Given the description of an element on the screen output the (x, y) to click on. 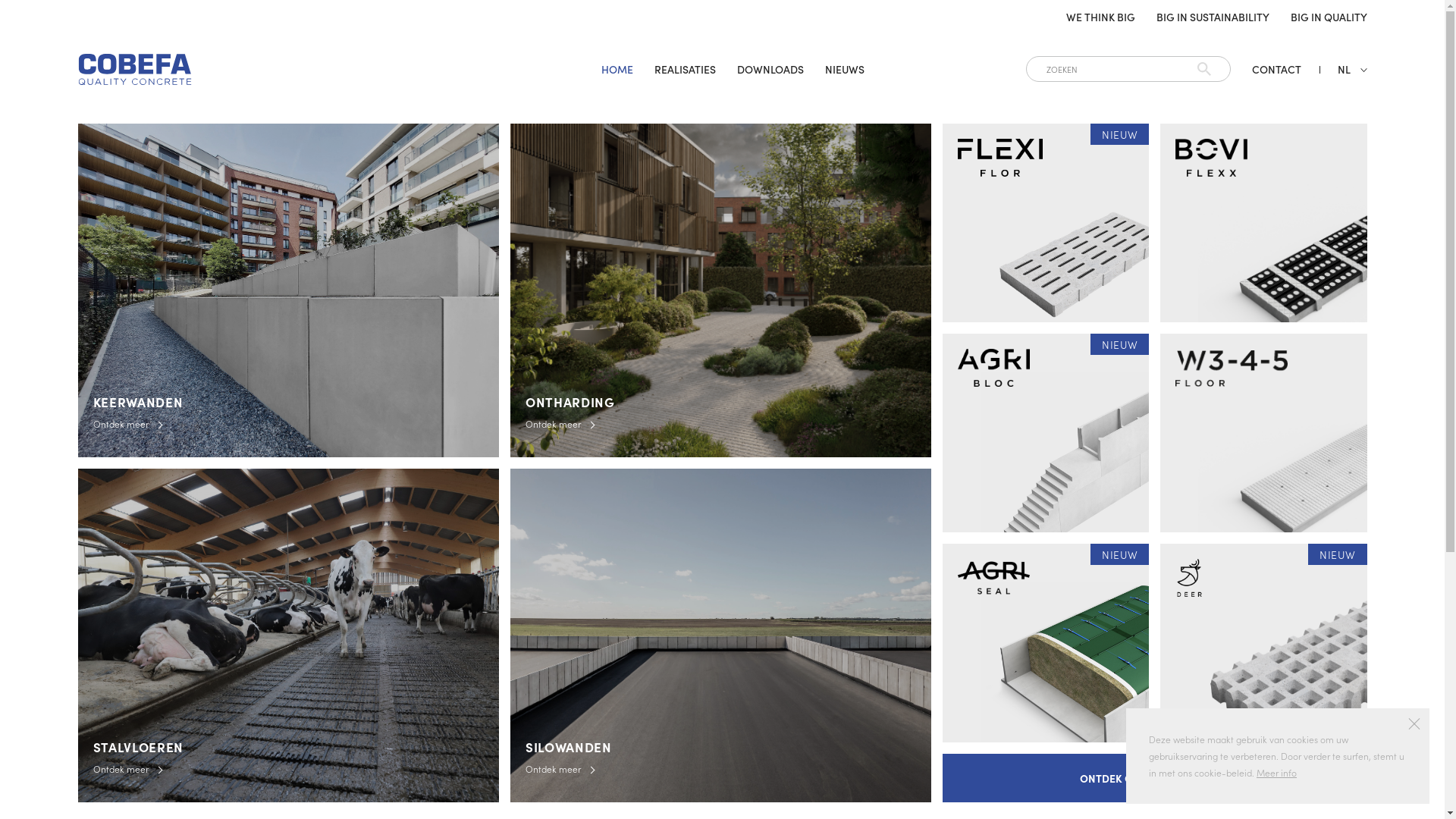
BIG IN QUALITY Element type: text (1328, 16)
NIEUW Element type: text (1045, 222)
HOME Element type: text (617, 68)
NIEUW Element type: text (1045, 432)
REALISATIES Element type: text (684, 68)
NL Element type: text (1343, 68)
CONTACT Element type: text (1275, 68)
NIEUWS Element type: text (844, 68)
NIEUW Element type: text (1045, 642)
WE THINK BIG Element type: text (1100, 16)
NIEUW Element type: text (1263, 642)
ONTHARDING
Ontdek meer Element type: text (720, 290)
SILOWANDEN
Ontdek meer Element type: text (720, 635)
ONTDEK OOK ONZE U-GOTEN Element type: text (1154, 777)
BIG IN SUSTAINABILITY Element type: text (1211, 16)
KEERWANDEN
Ontdek meer Element type: text (287, 290)
Meer info Element type: text (1276, 771)
DOWNLOADS Element type: text (770, 68)
STALVLOEREN
Ontdek meer Element type: text (287, 635)
